Given the description of an element on the screen output the (x, y) to click on. 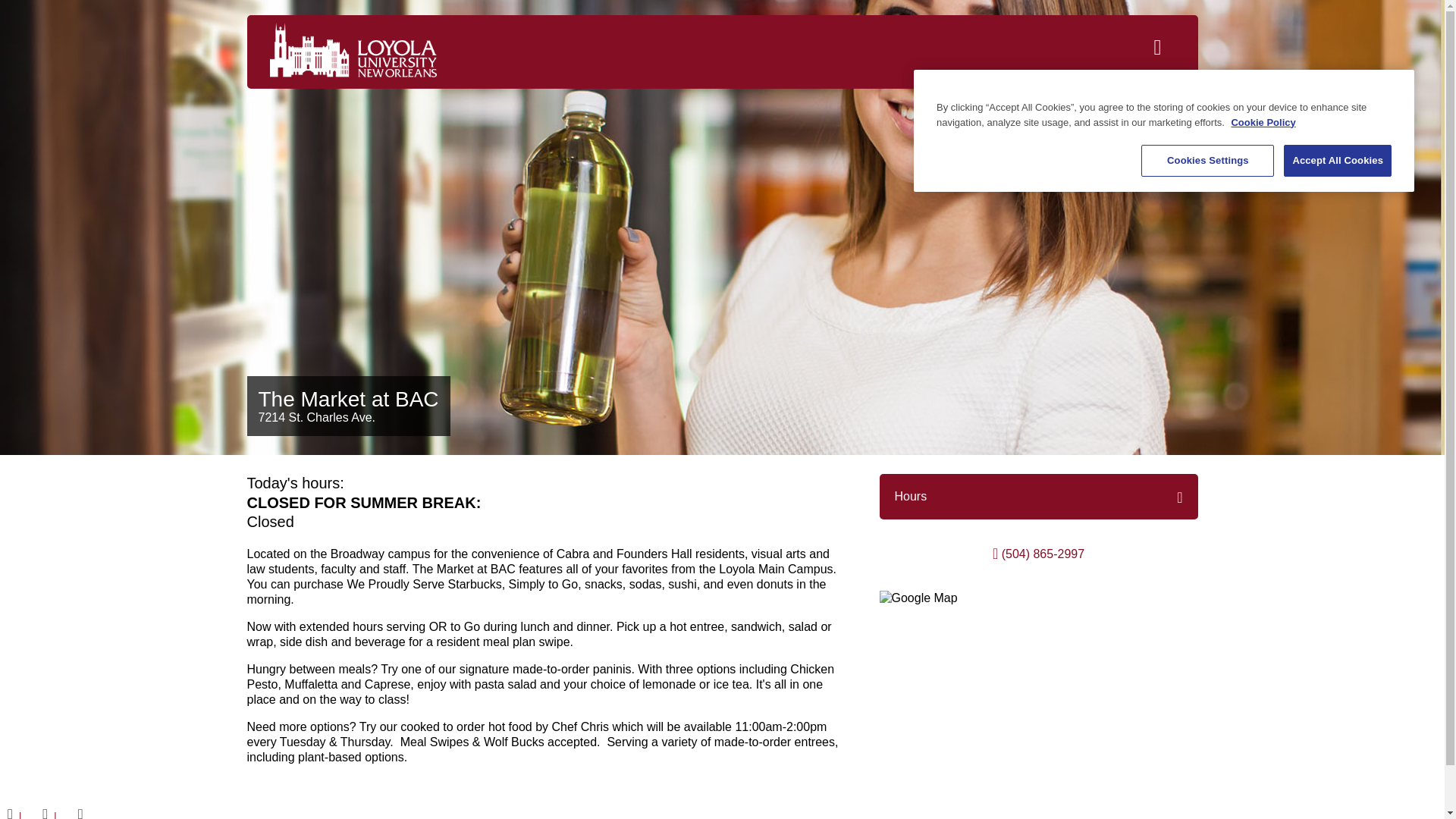
Menu (1164, 50)
Hours (911, 495)
